Given the description of an element on the screen output the (x, y) to click on. 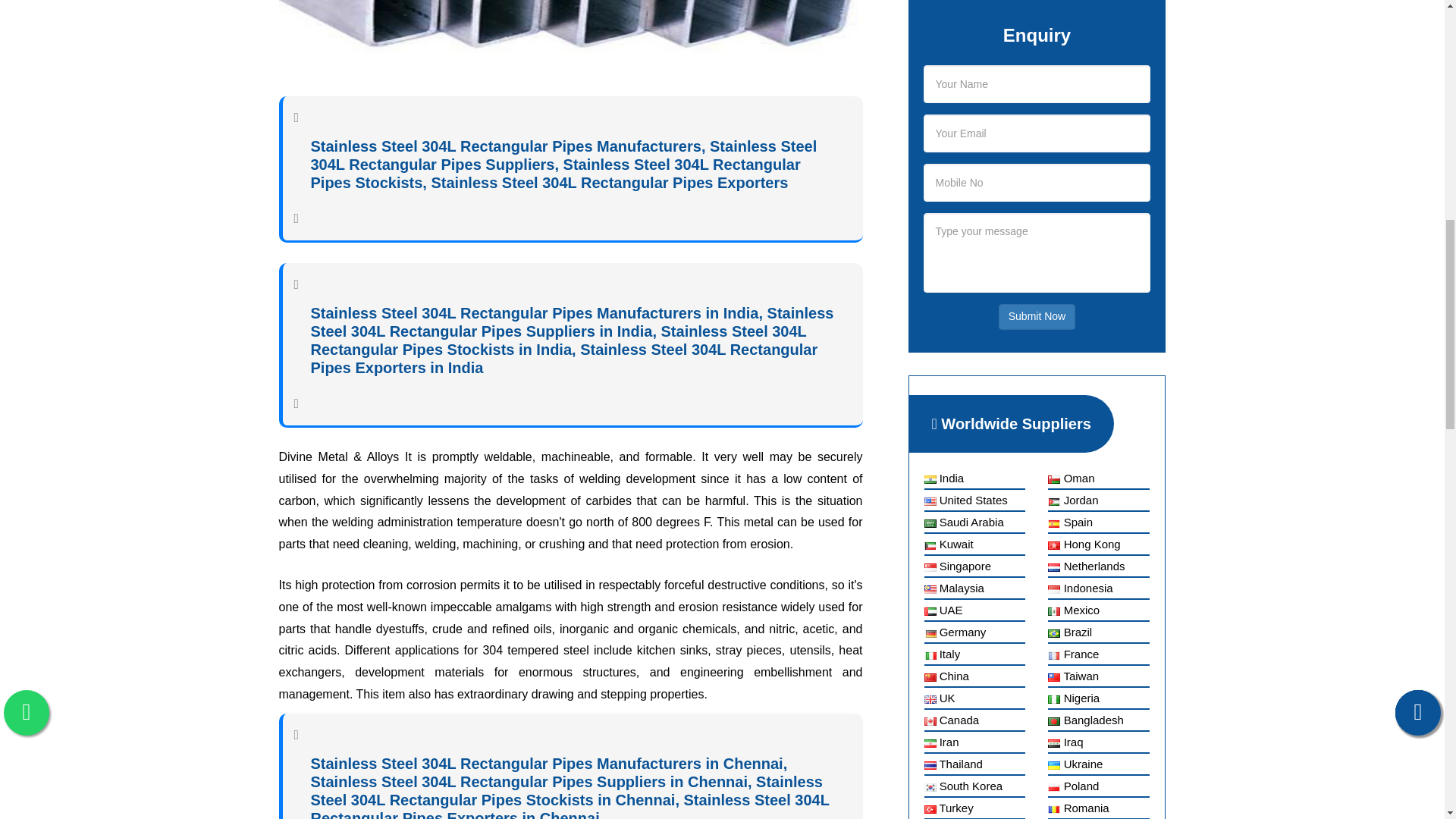
Submit Now (1036, 316)
